Given the description of an element on the screen output the (x, y) to click on. 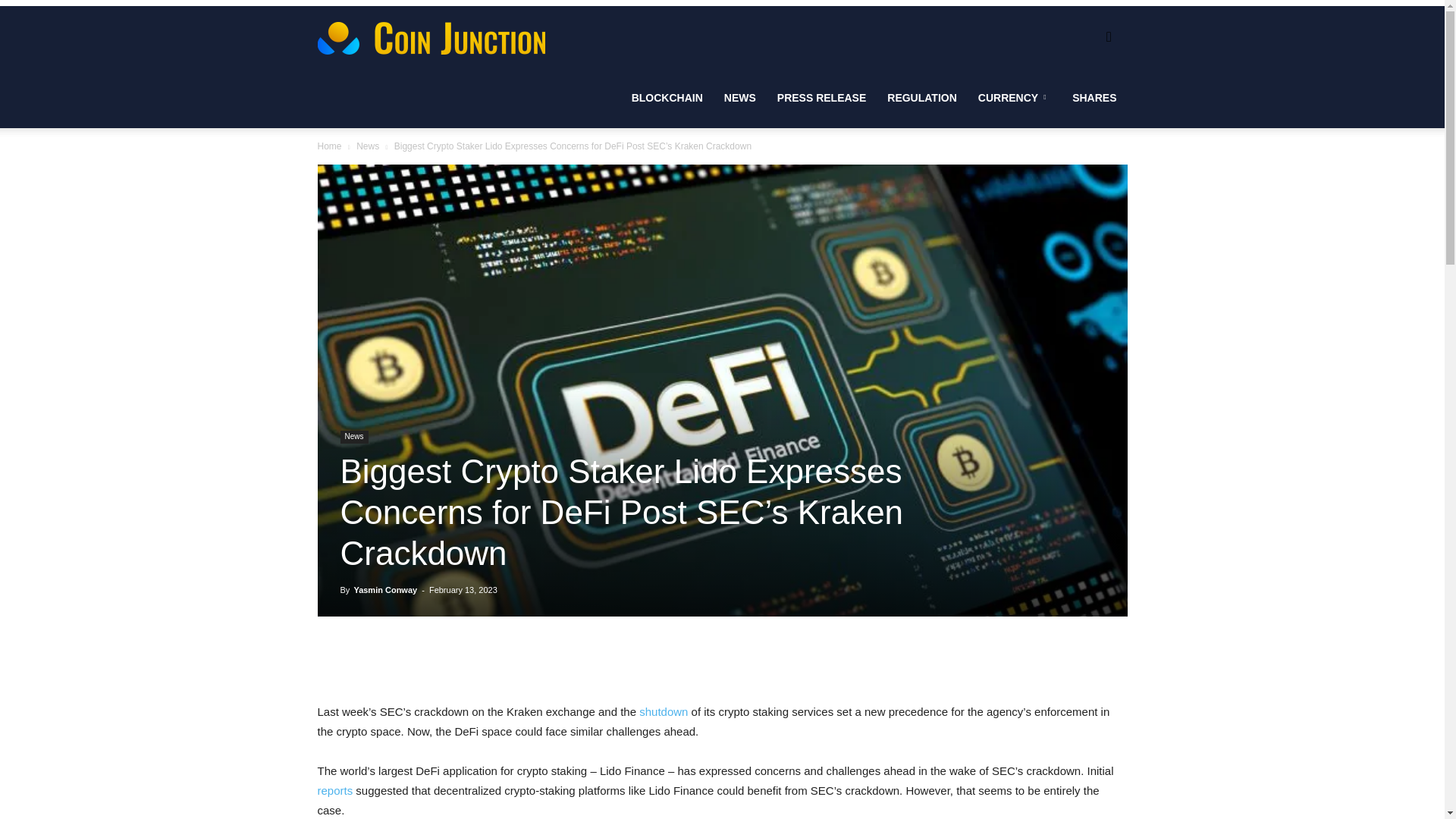
SHARES (1093, 97)
shutdown (663, 711)
CURRENCY (1014, 97)
PRESS RELEASE (821, 97)
Coinjunction (430, 36)
Home (328, 145)
News (367, 145)
News (353, 436)
reports (334, 789)
